Given the description of an element on the screen output the (x, y) to click on. 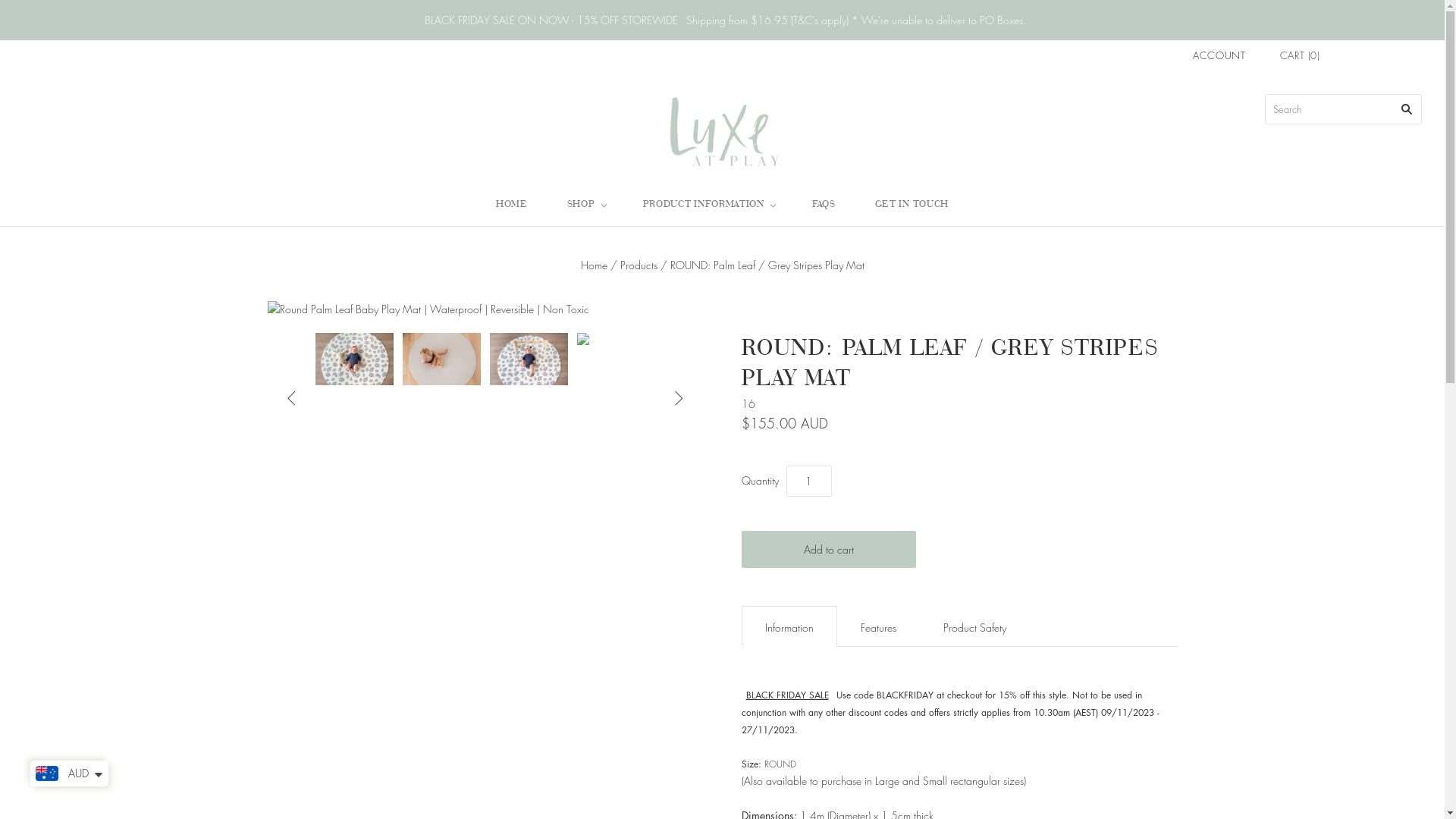
Add to cart Element type: text (828, 548)
Home Element type: text (593, 264)
CART (0) Element type: text (1300, 55)
HOME Element type: text (511, 204)
Products Element type: text (638, 264)
ACCOUNT Element type: text (1218, 55)
FAQS Element type: text (823, 204)
GET IN TOUCH Element type: text (911, 204)
PRODUCT INFORMATION Element type: text (707, 204)
SHOP Element type: text (585, 204)
